Given the description of an element on the screen output the (x, y) to click on. 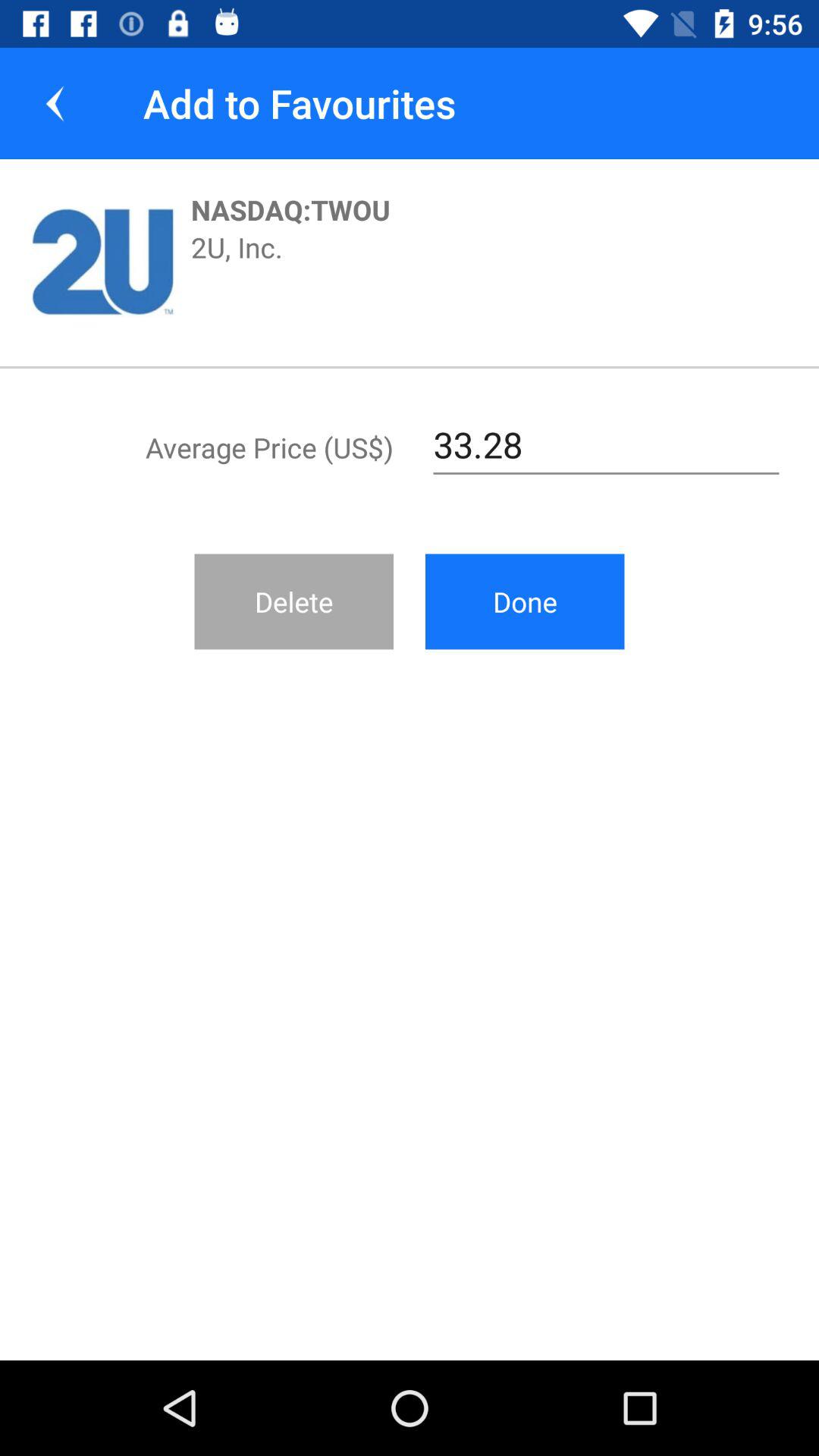
open the item next to the add to favourites (55, 103)
